Given the description of an element on the screen output the (x, y) to click on. 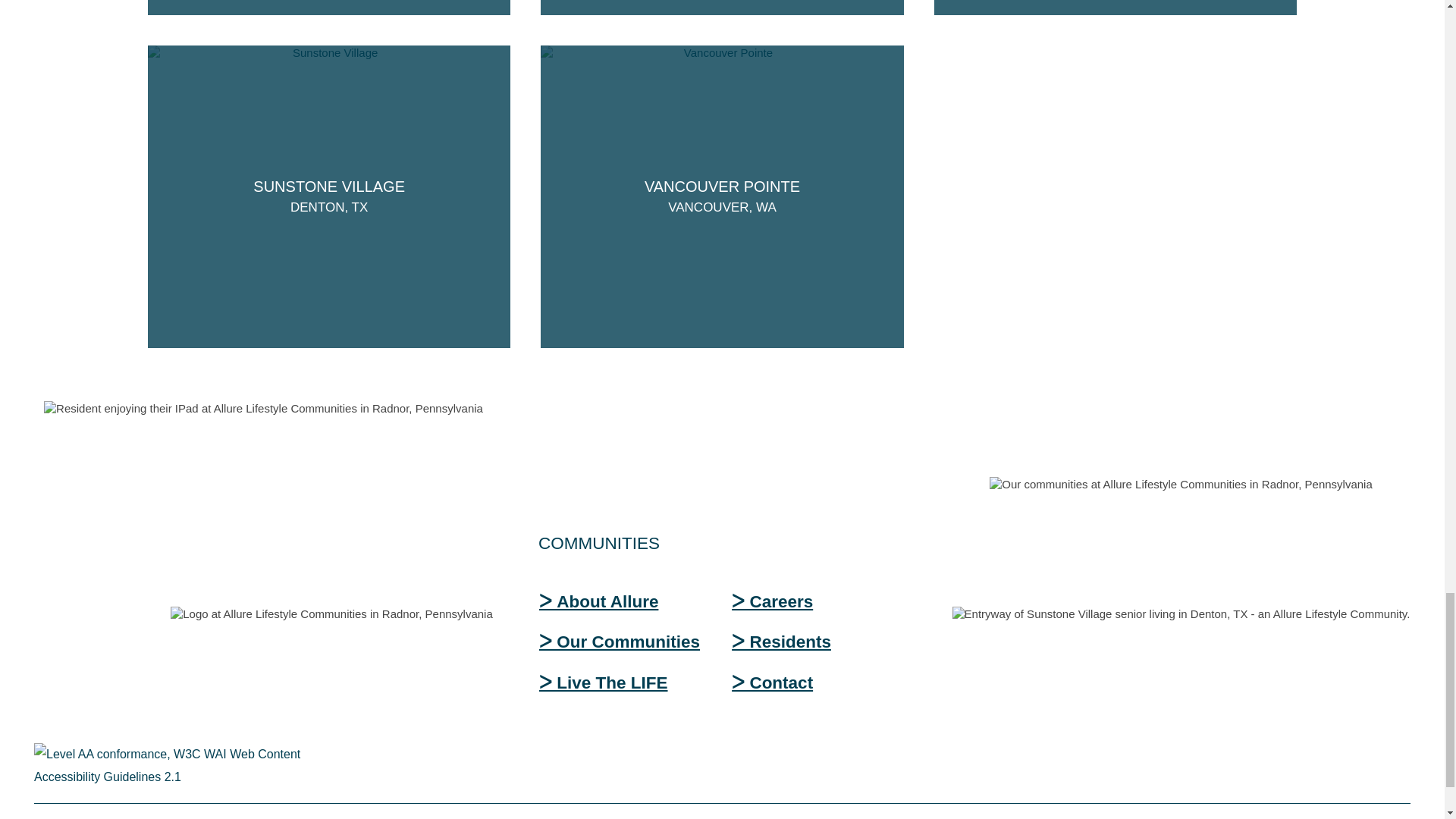
Explanation of WCAG 2 Level AA conformance (192, 764)
